Given the description of an element on the screen output the (x, y) to click on. 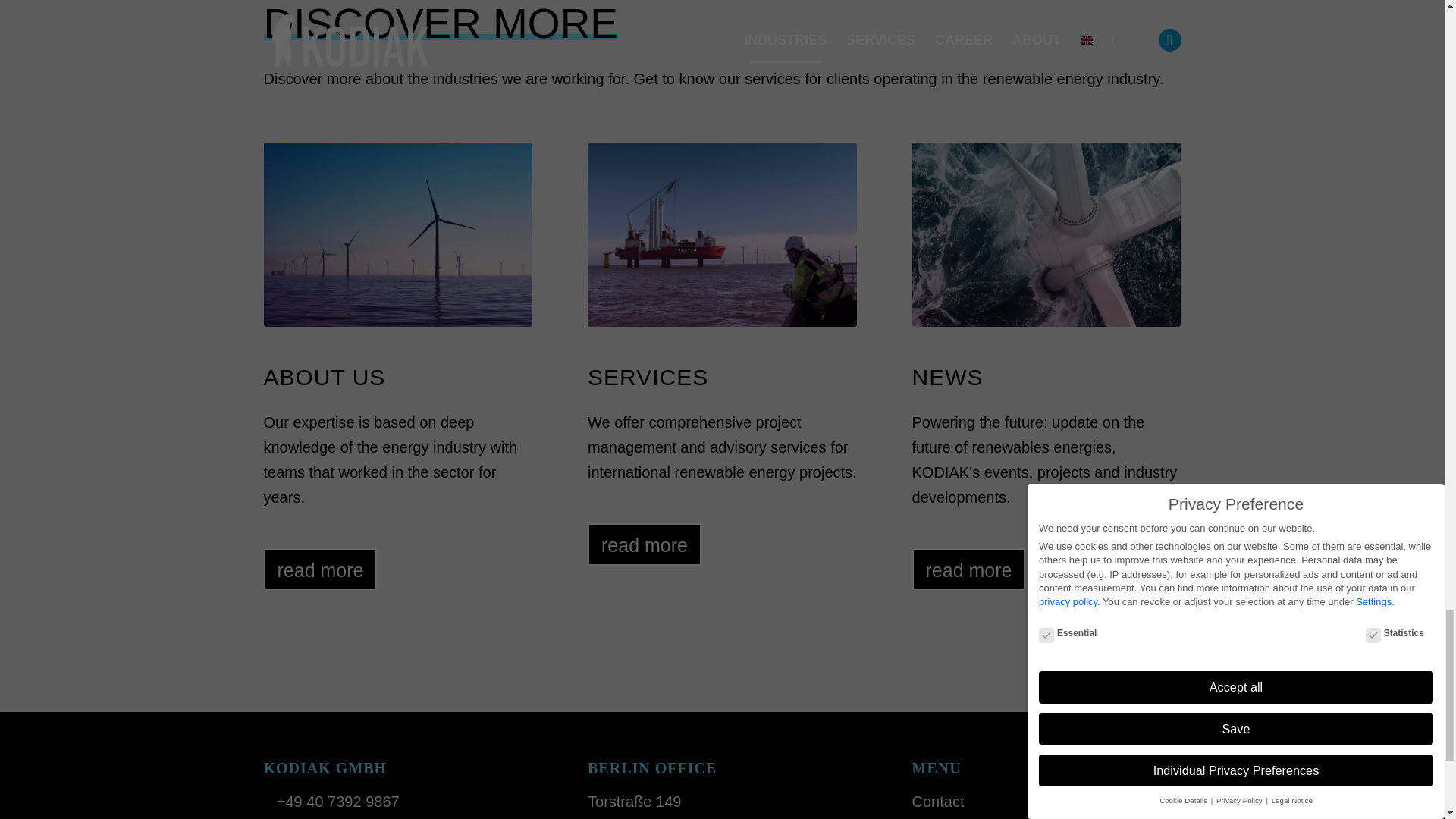
read more (320, 568)
read more (644, 544)
read more (969, 568)
